Given the description of an element on the screen output the (x, y) to click on. 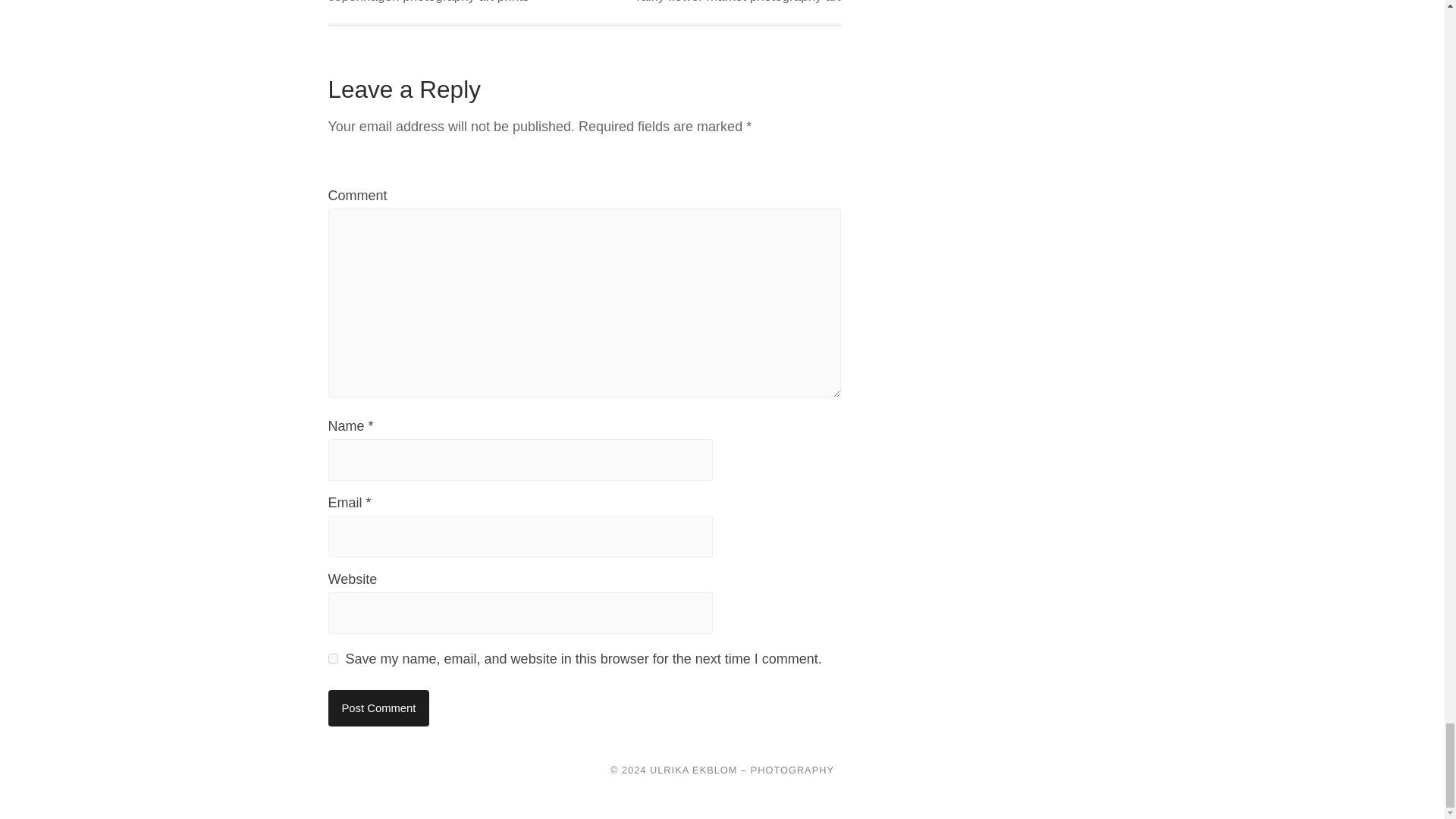
Post Comment (378, 708)
yes (332, 658)
Post Comment (378, 708)
